Given the description of an element on the screen output the (x, y) to click on. 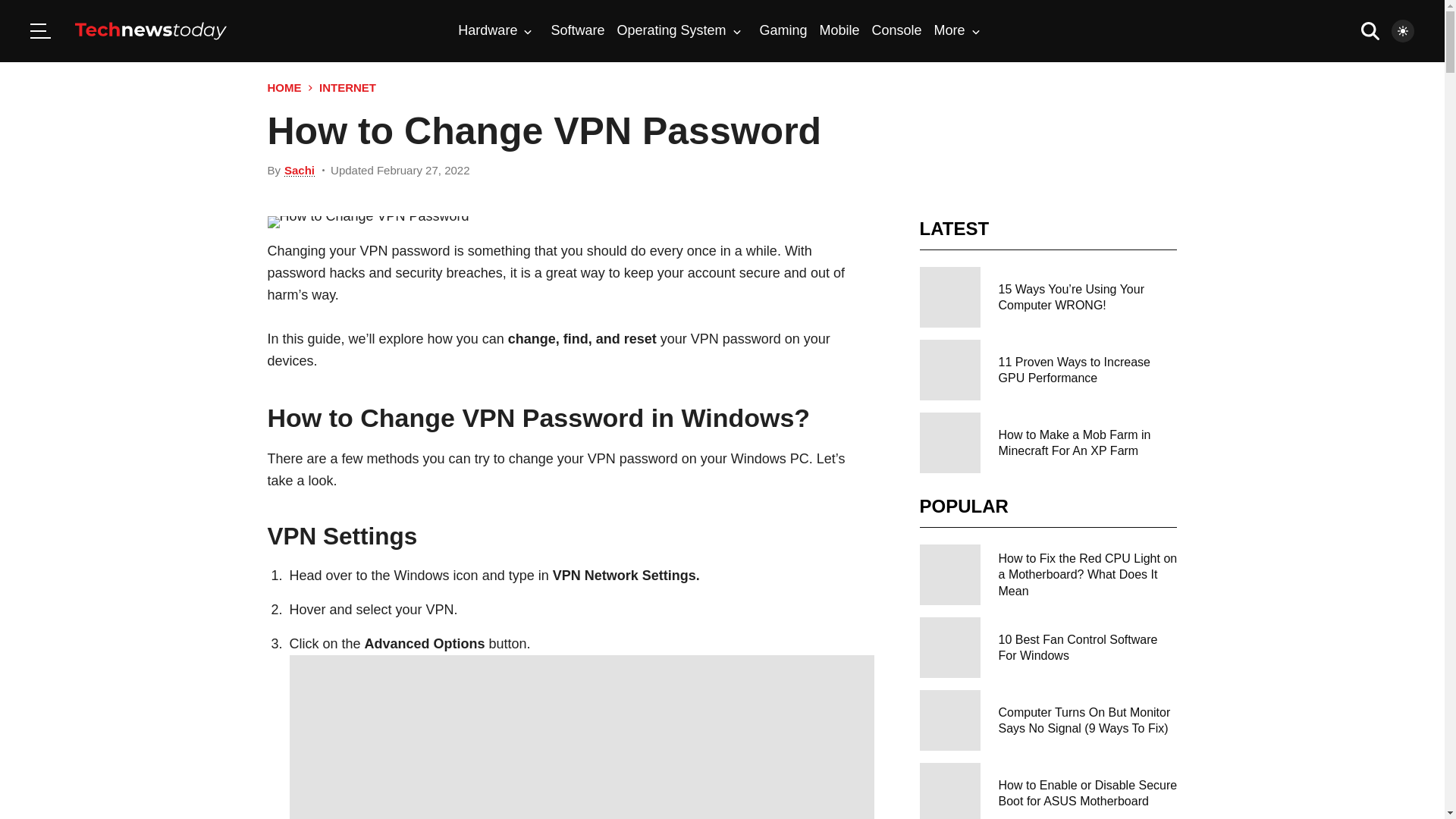
Operating System (678, 30)
Mobile (839, 30)
Console (896, 30)
Gaming (784, 30)
How to Change VPN Password 10 (582, 737)
Software (577, 30)
Hardware (495, 30)
More (956, 30)
